Given the description of an element on the screen output the (x, y) to click on. 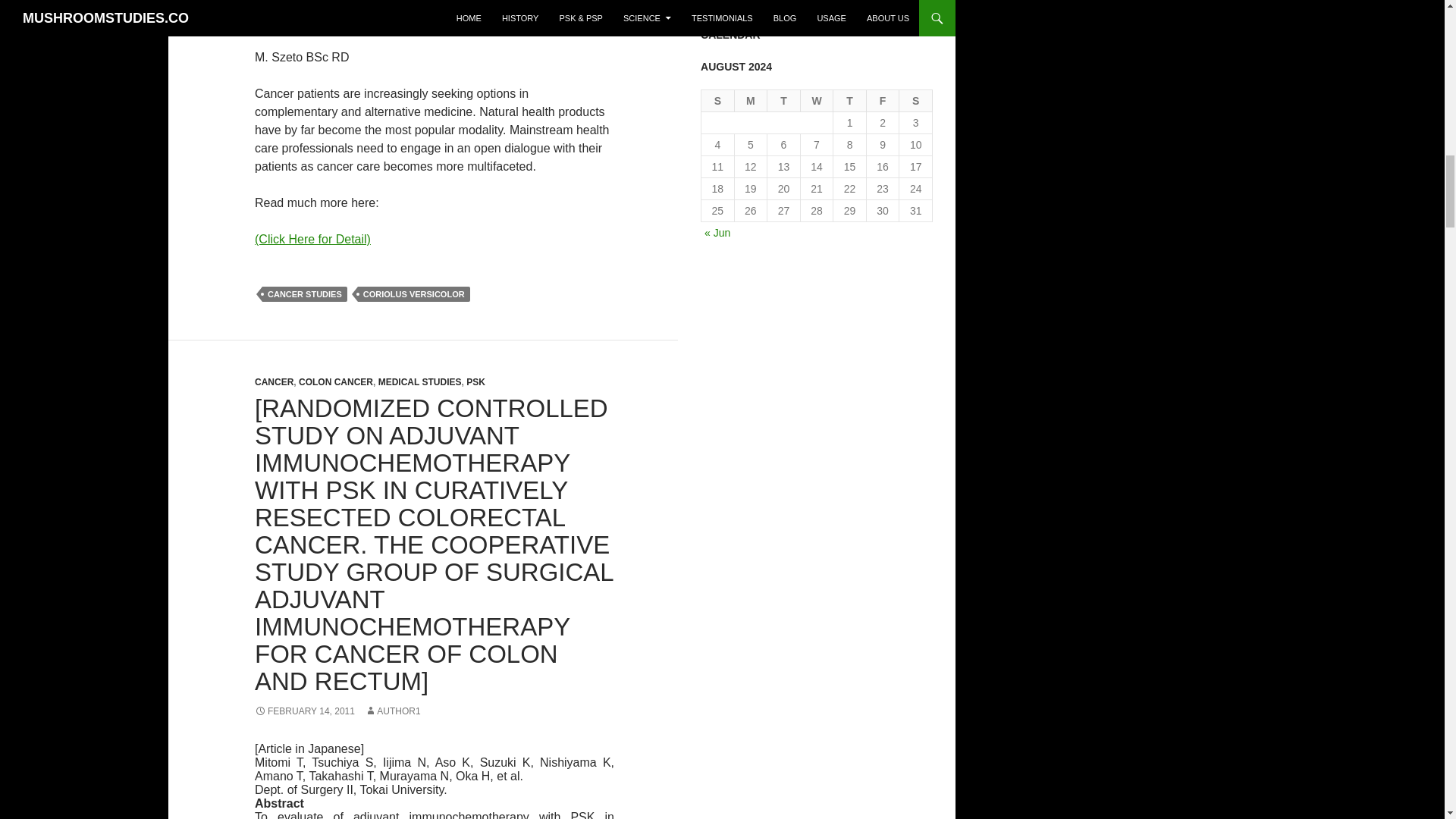
Wednesday (817, 101)
Sunday (718, 101)
Thursday (849, 101)
Tuesday (783, 101)
Monday (751, 101)
Friday (882, 101)
Saturday (916, 101)
